Given the description of an element on the screen output the (x, y) to click on. 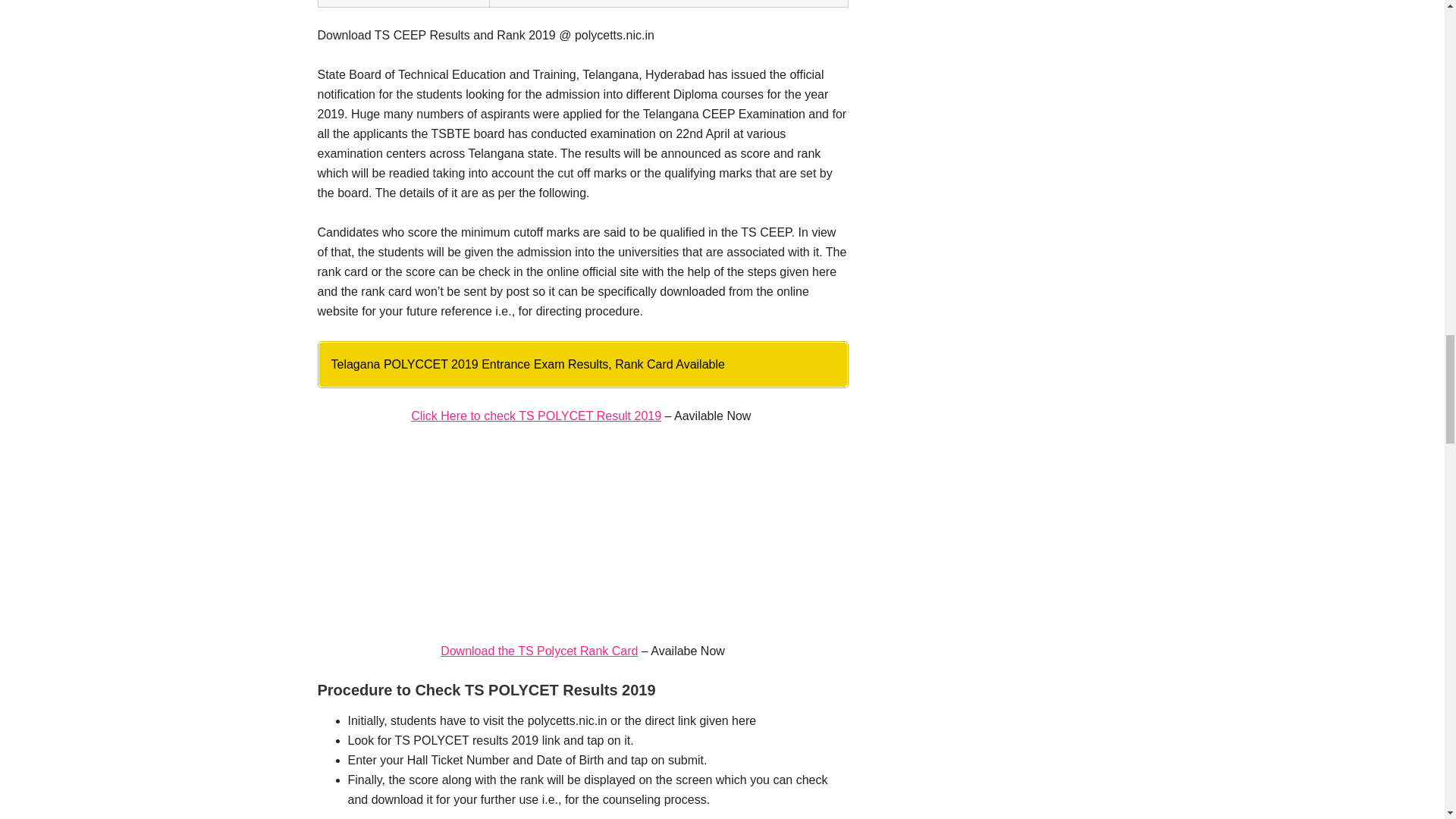
Click Here to check TS POLYCET Result 2019 (535, 415)
Download the TS Polycet Rank Card (539, 650)
Advertisement (581, 540)
